Given the description of an element on the screen output the (x, y) to click on. 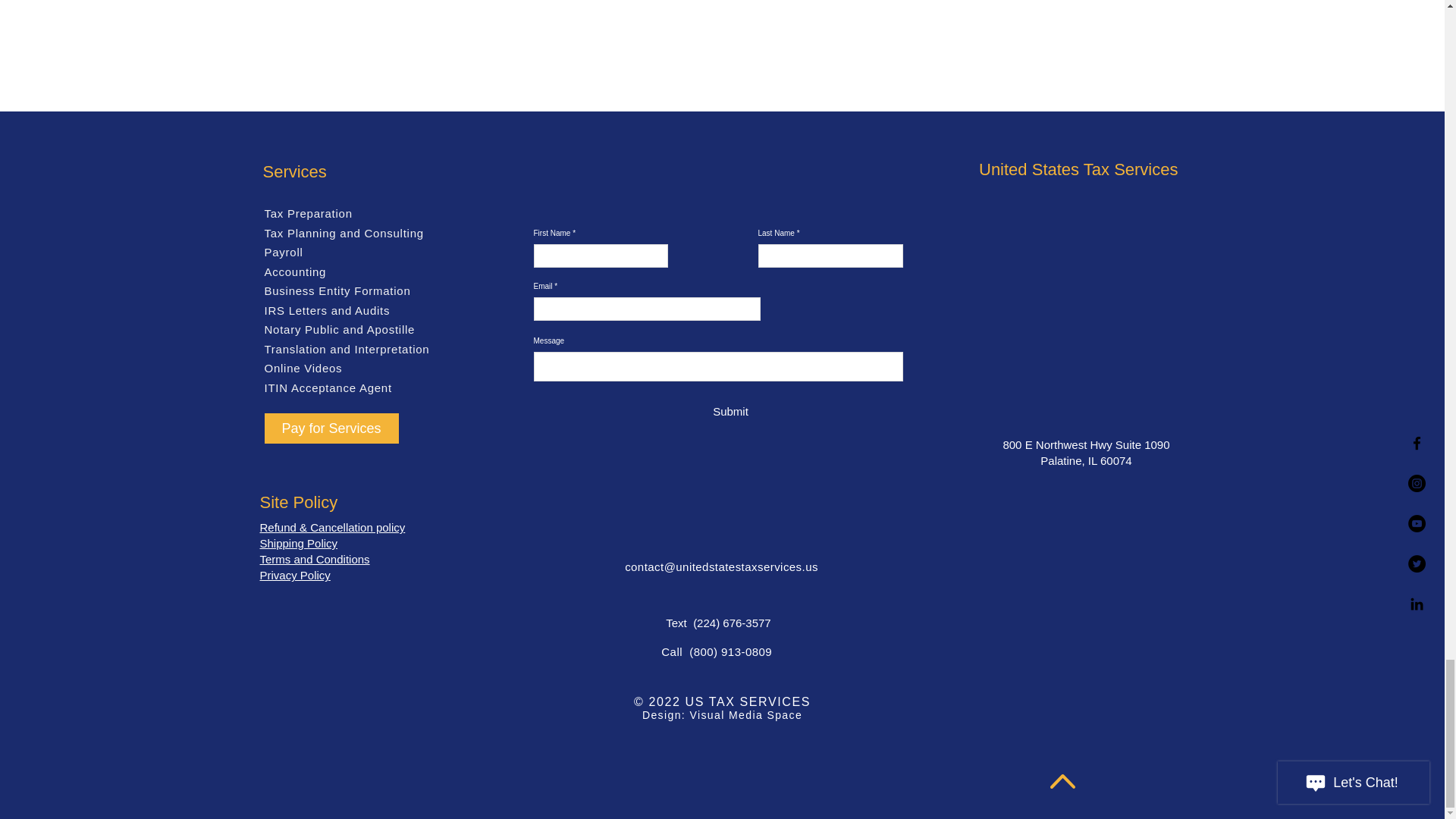
Translation and Interpretation (346, 349)
Notary Public and Apostille (338, 328)
Business Entity Formation (336, 290)
Accounting (294, 271)
IRS Letters and Audits (326, 309)
Tax Preparation (307, 213)
Payroll (282, 251)
Google Maps (1080, 305)
Tax Planning and Consulting (343, 232)
